Given the description of an element on the screen output the (x, y) to click on. 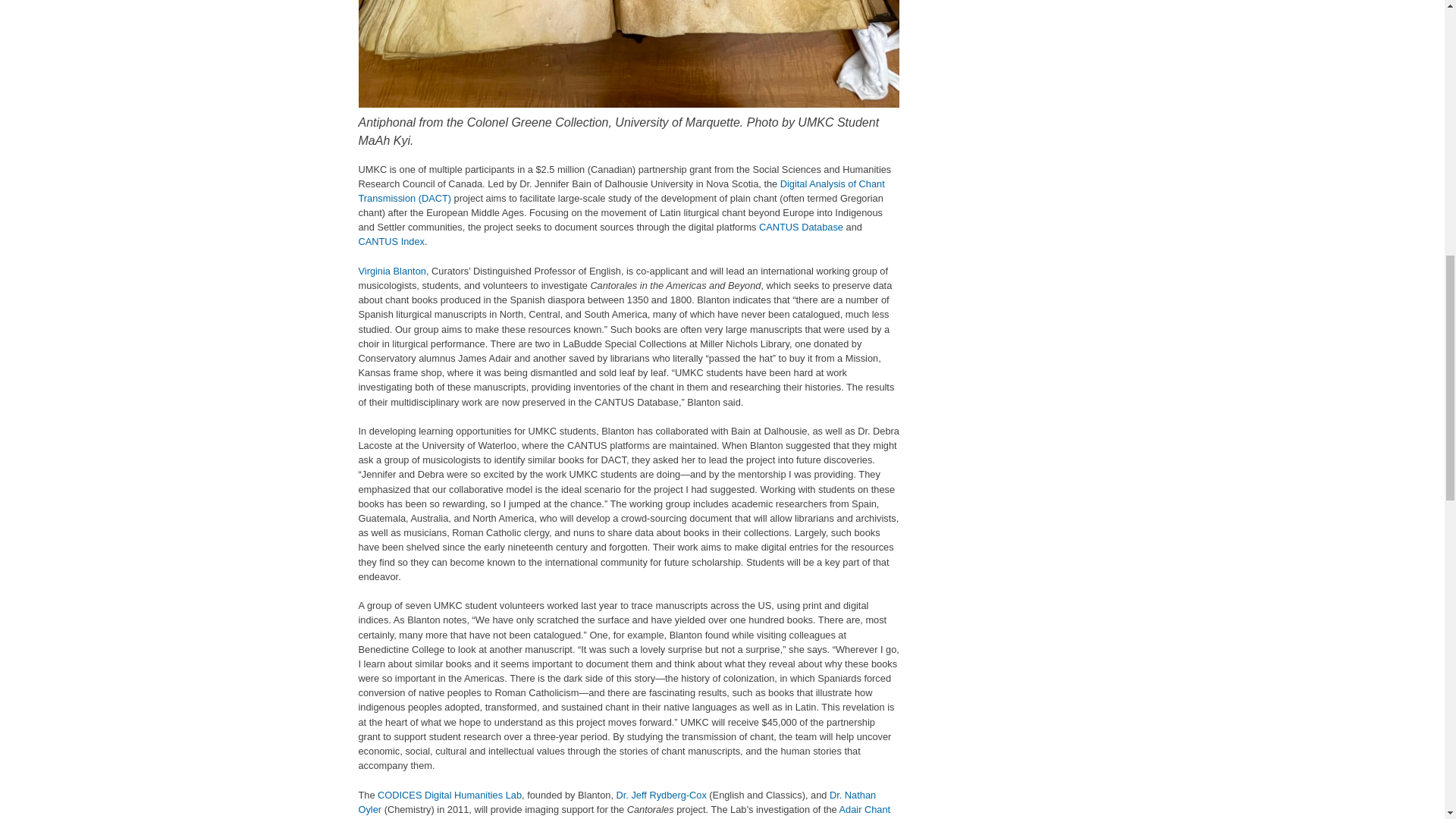
CODICES Digital Humanities Lab (449, 794)
Adair Chant Book (623, 811)
Dr. Nathan Oyler (617, 801)
Dr. Jeff Rydberg-Cox (660, 794)
Virginia Blanton (391, 270)
CANTUS Database (800, 226)
CANTUS Index (390, 241)
